Given the description of an element on the screen output the (x, y) to click on. 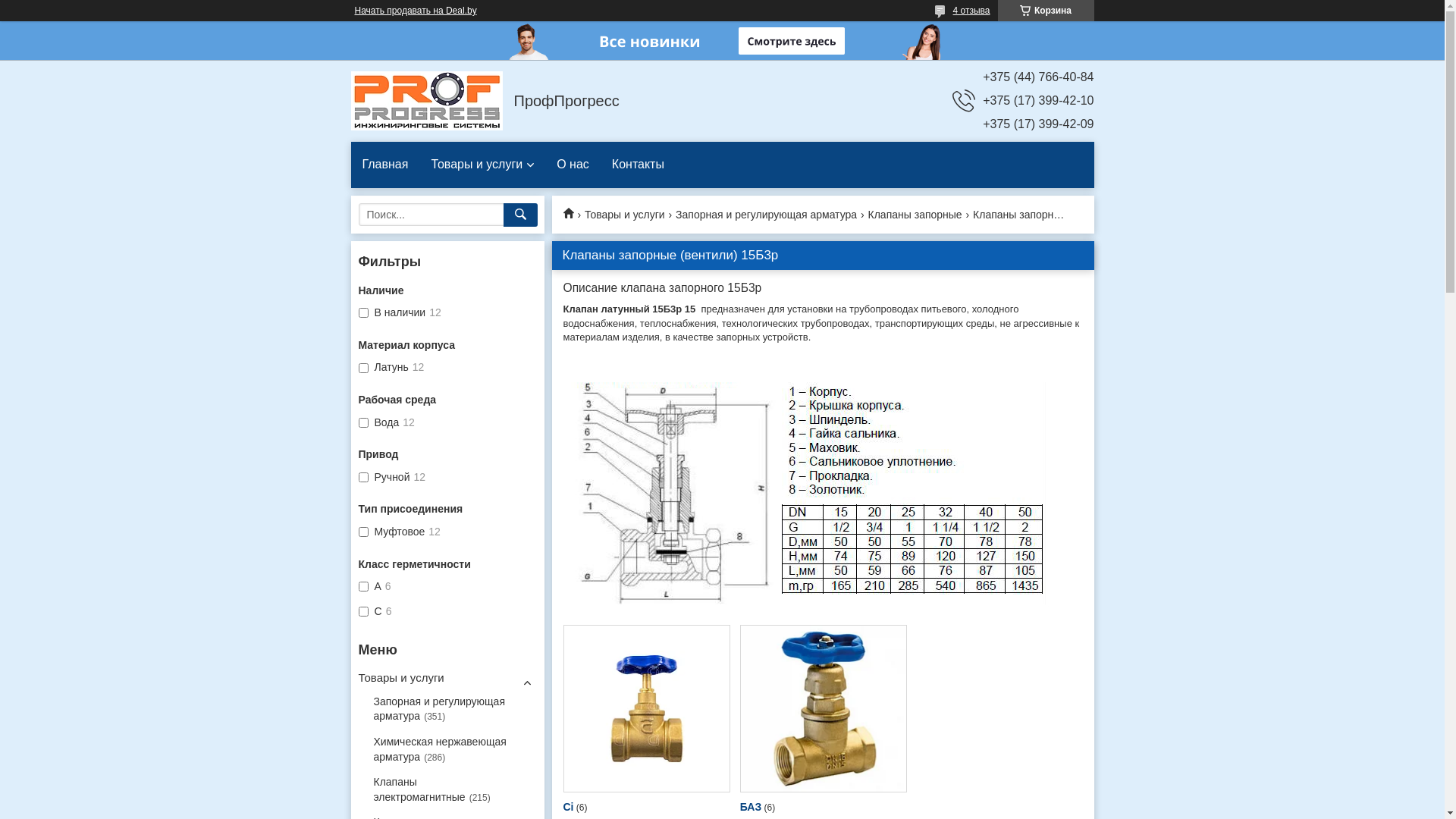
Ci Element type: hover (645, 707)
Ci Element type: text (567, 806)
